Given the description of an element on the screen output the (x, y) to click on. 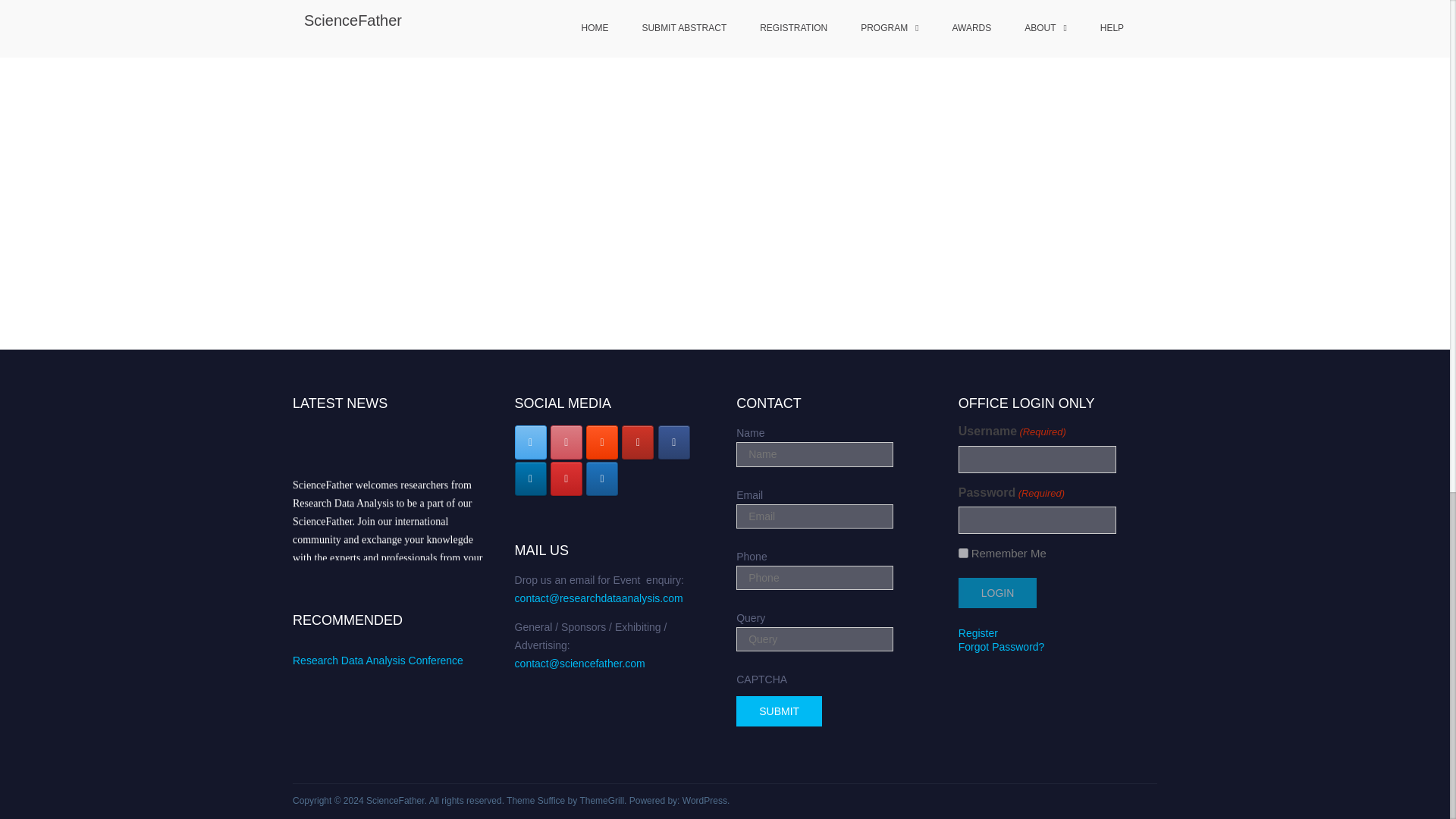
ScienceFather on Wordpress (601, 478)
ScienceFather on Instagram (566, 478)
ScienceFather (395, 800)
Submit (779, 711)
ScienceFather on Pinterest (566, 442)
ScienceFather on Linkedin (531, 478)
ScienceFather on Facebook (674, 442)
Register (977, 633)
Forgot Password? (1001, 646)
1 (963, 552)
ScienceFather on Blogger B (601, 442)
ScienceFather on Youtube (637, 442)
ScienceFather on X Twitter (531, 442)
Login (997, 593)
